Given the description of an element on the screen output the (x, y) to click on. 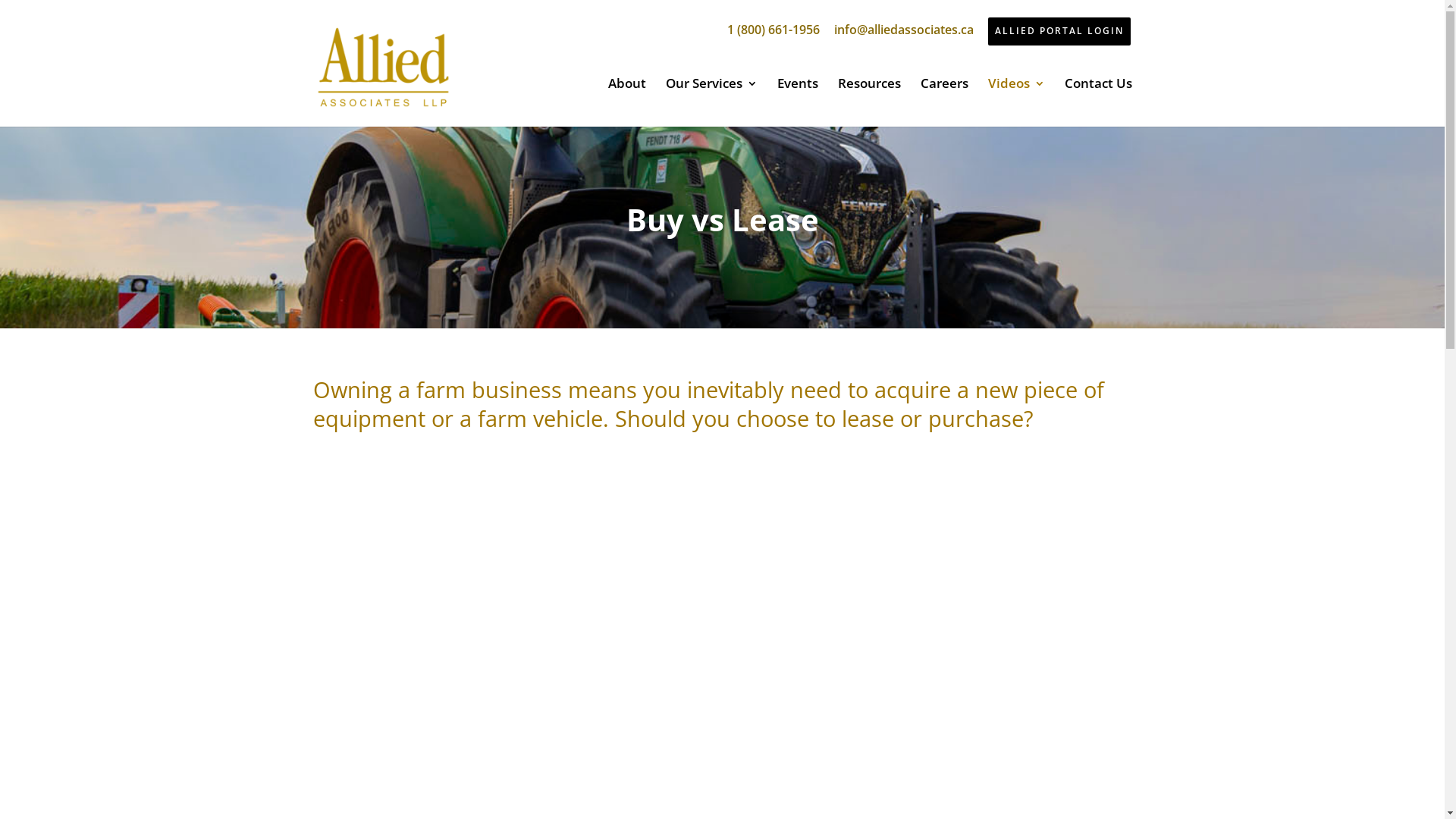
Our Services Element type: text (711, 102)
About Element type: text (627, 102)
Videos Element type: text (1015, 102)
Contact Us Element type: text (1098, 102)
Careers Element type: text (944, 102)
Resources Element type: text (868, 102)
ALLIED PORTAL LOGIN Element type: text (1058, 31)
info@alliedassociates.ca Element type: text (903, 29)
1 (800) 661-1956 Element type: text (772, 29)
Events Element type: text (796, 102)
